Given the description of an element on the screen output the (x, y) to click on. 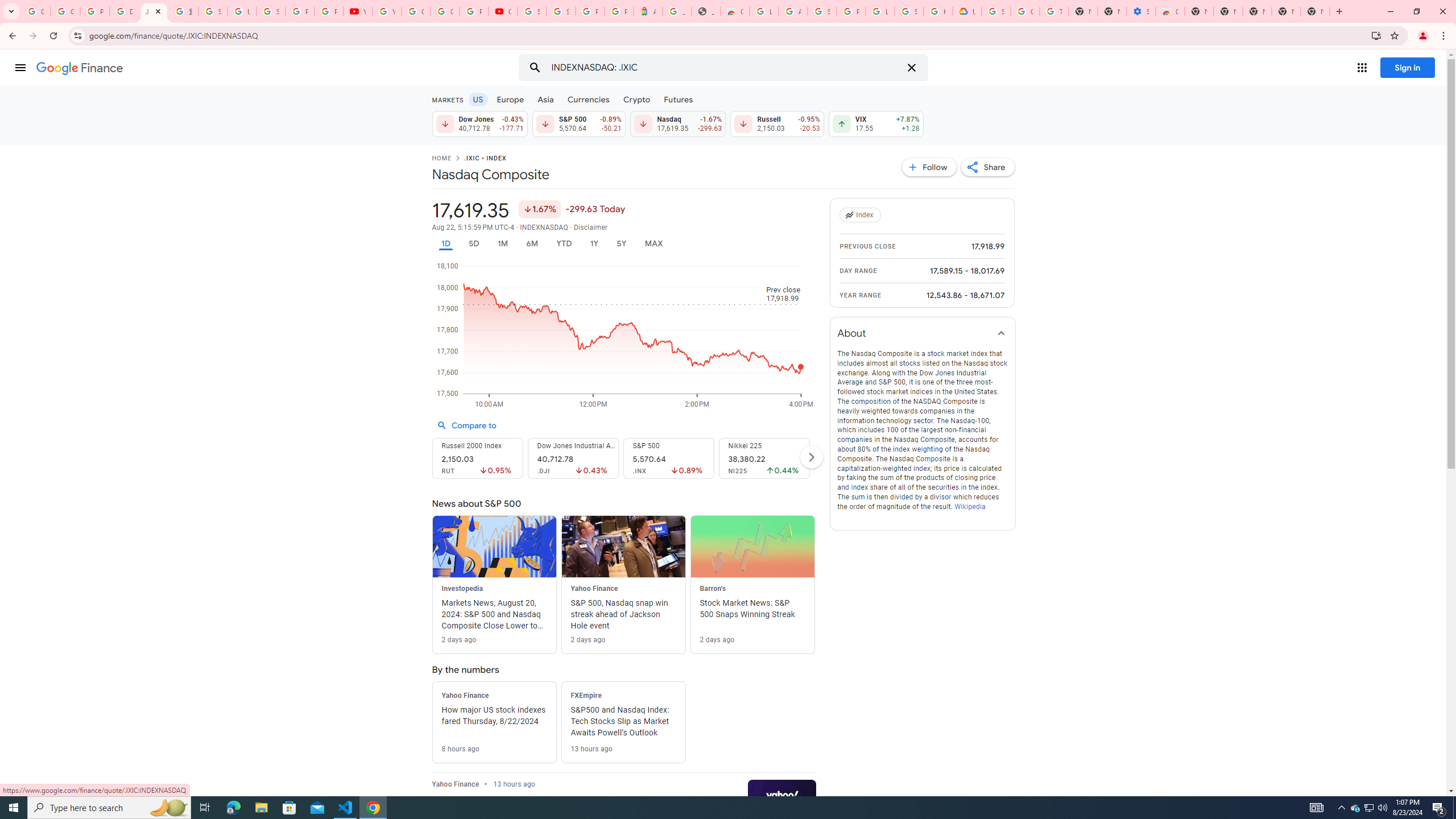
Disclaimer (590, 227)
Content Creator Programs & Opportunities - YouTube Creators (502, 11)
Clear search (911, 67)
Settings - Accessibility (1140, 11)
5Y (621, 243)
Currencies (588, 99)
Sign in - Google Accounts (996, 11)
1D (445, 243)
1M (501, 243)
